Given the description of an element on the screen output the (x, y) to click on. 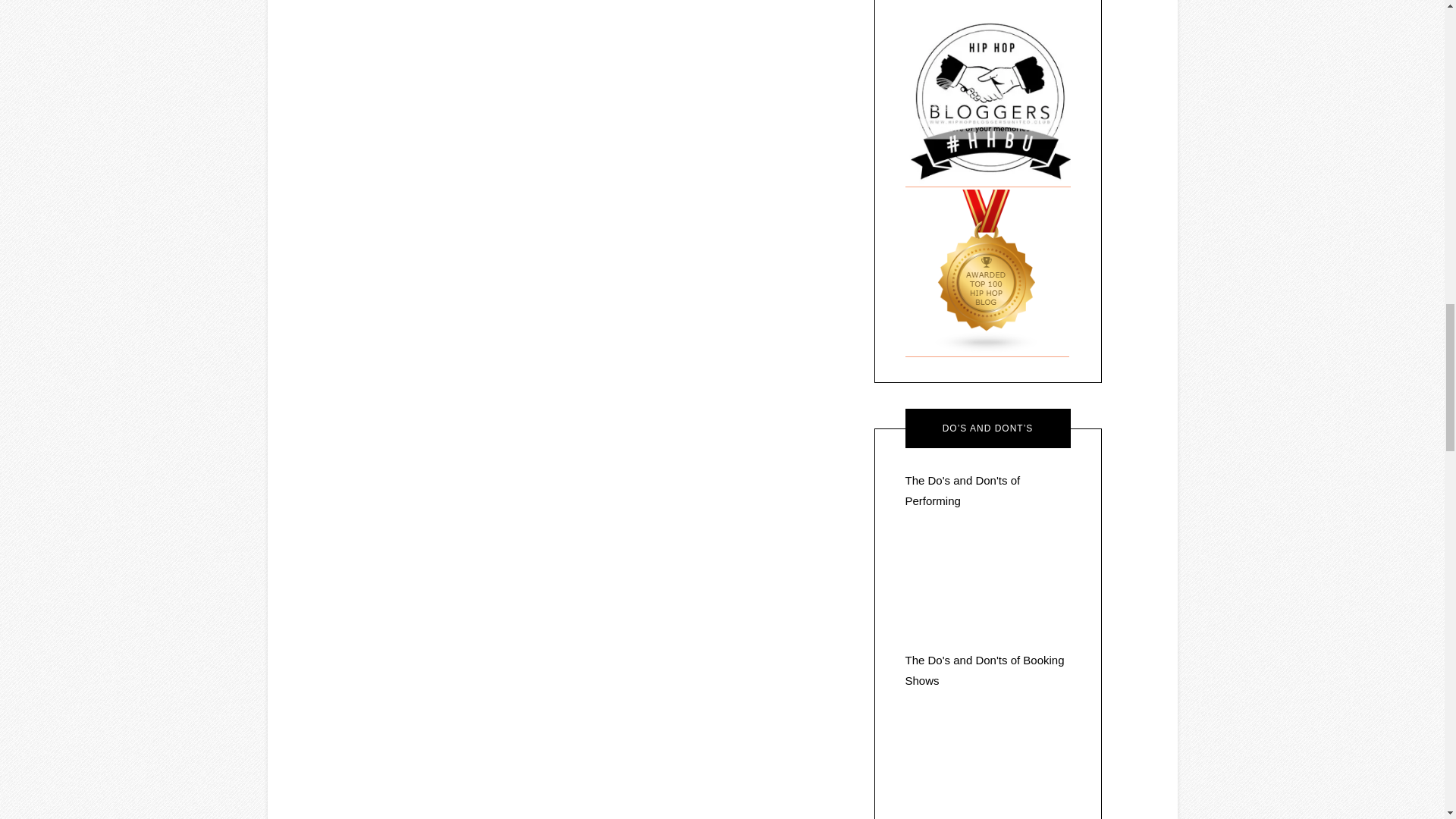
Hip Hop blogs (986, 350)
